Given the description of an element on the screen output the (x, y) to click on. 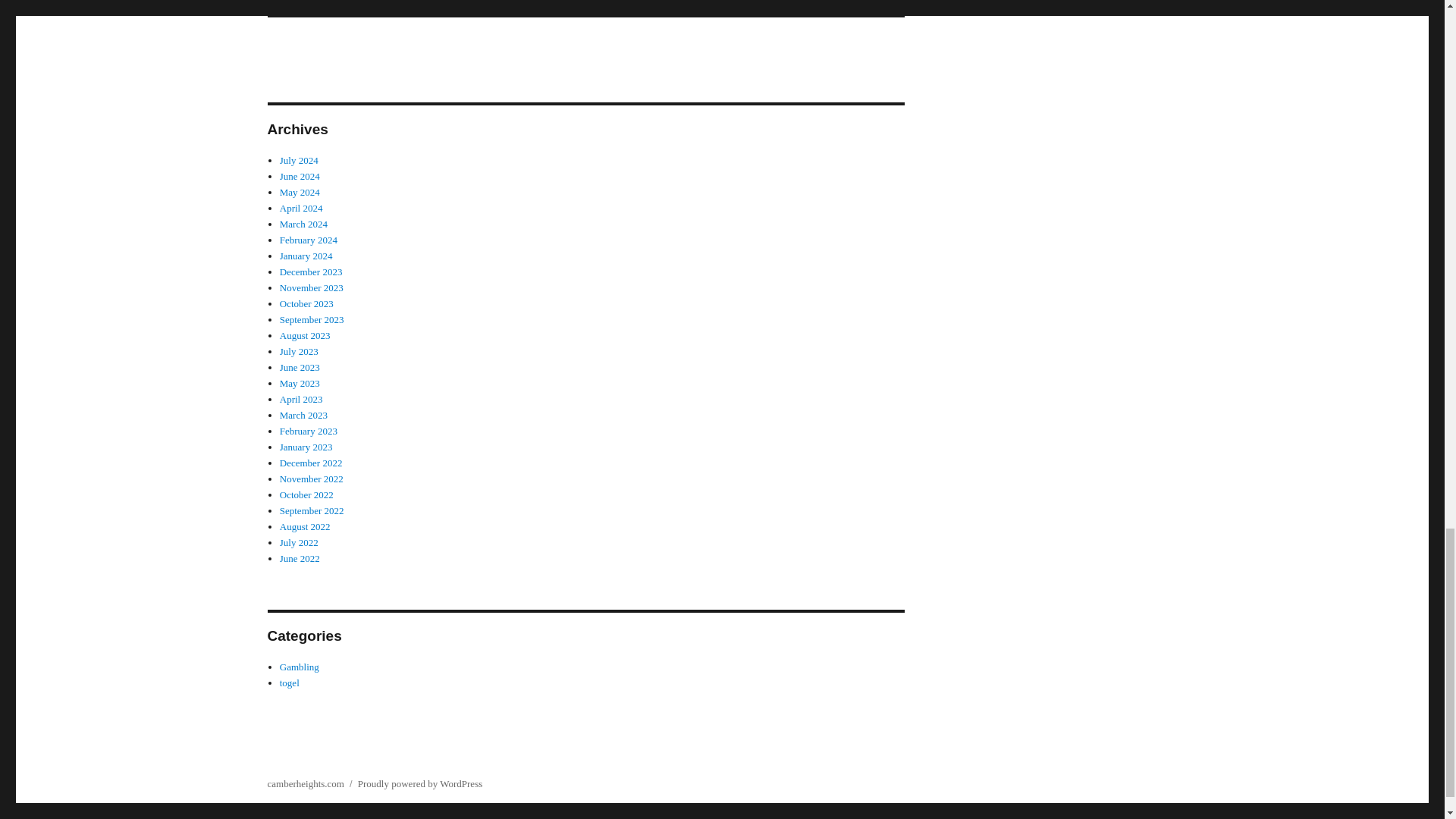
June 2024 (299, 175)
January 2024 (306, 255)
August 2022 (304, 526)
togel (289, 682)
February 2024 (308, 239)
November 2023 (311, 287)
July 2024 (298, 160)
September 2022 (311, 510)
March 2024 (303, 224)
July 2022 (298, 542)
June 2022 (299, 558)
August 2023 (304, 335)
May 2024 (299, 192)
Gambling (298, 666)
April 2023 (301, 398)
